Given the description of an element on the screen output the (x, y) to click on. 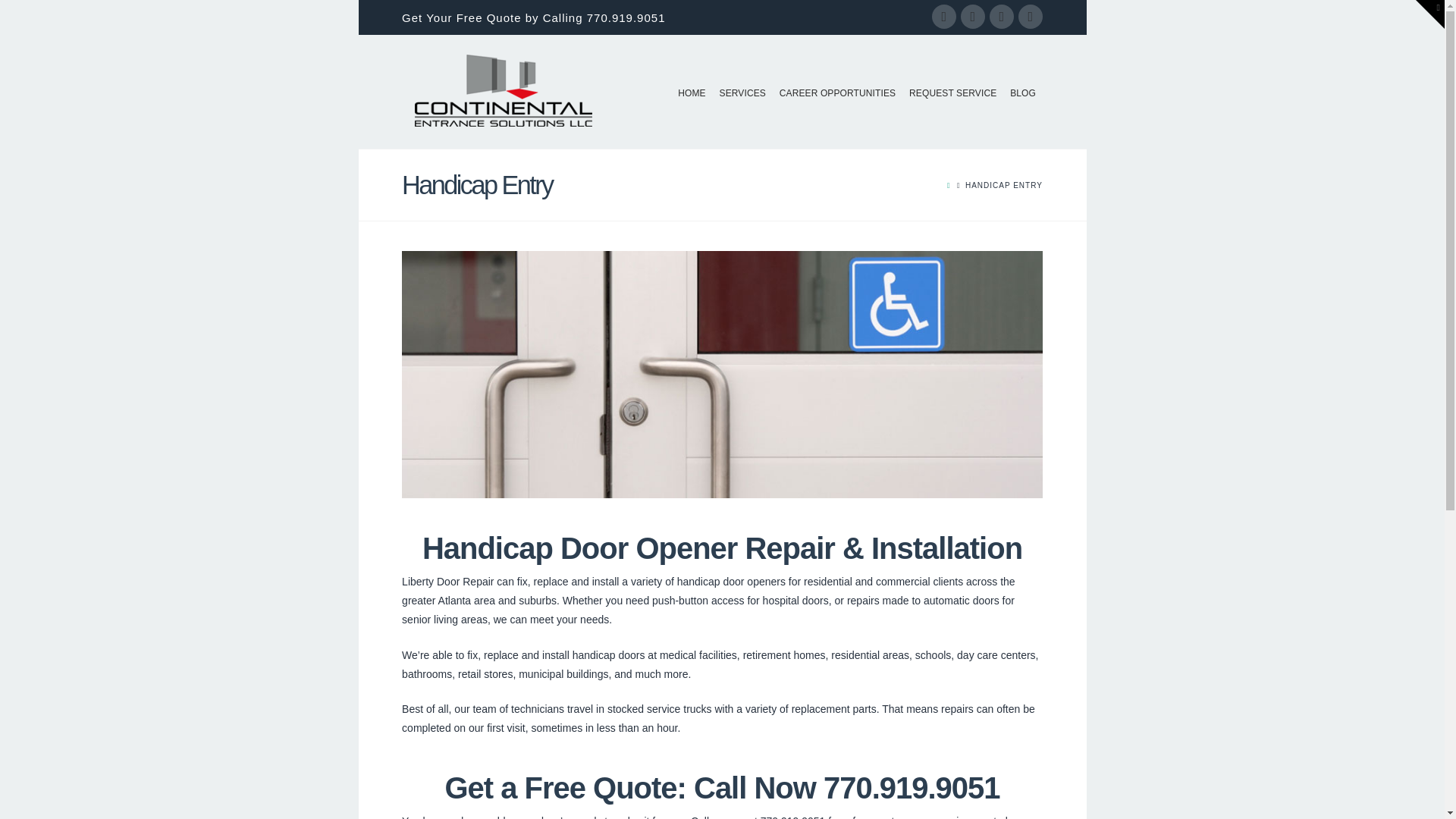
REQUEST SERVICE (952, 88)
CAREER OPPORTUNITIES (837, 88)
SERVICES (743, 88)
Continental Entrance Solutions (502, 91)
RSS (1029, 16)
BLOG (1022, 88)
Facebook (943, 16)
HOME (691, 88)
Twitter (972, 16)
